Given the description of an element on the screen output the (x, y) to click on. 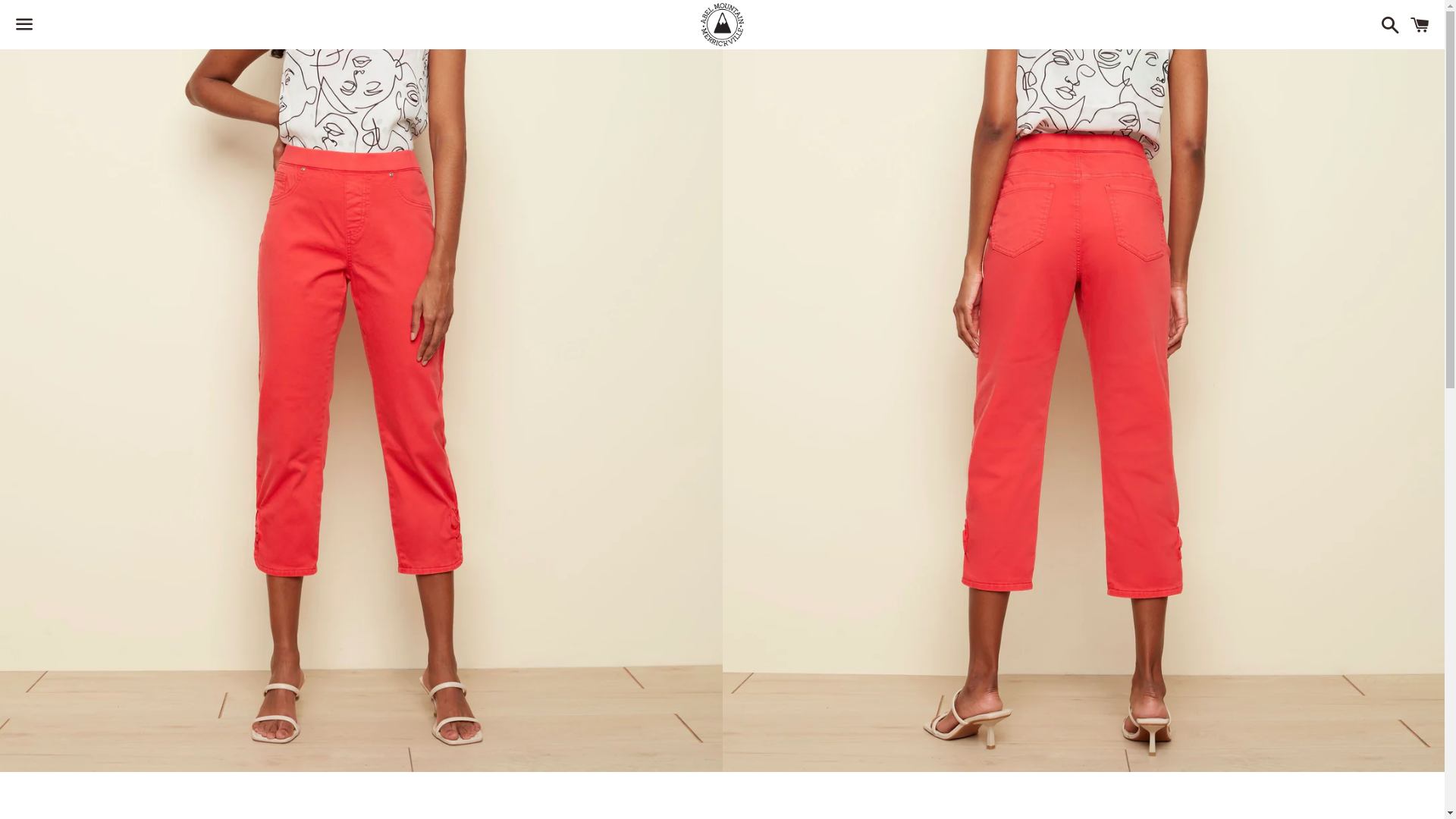
Menu Element type: text (24, 24)
Cart Element type: text (1419, 24)
Search Element type: text (1386, 24)
